Given the description of an element on the screen output the (x, y) to click on. 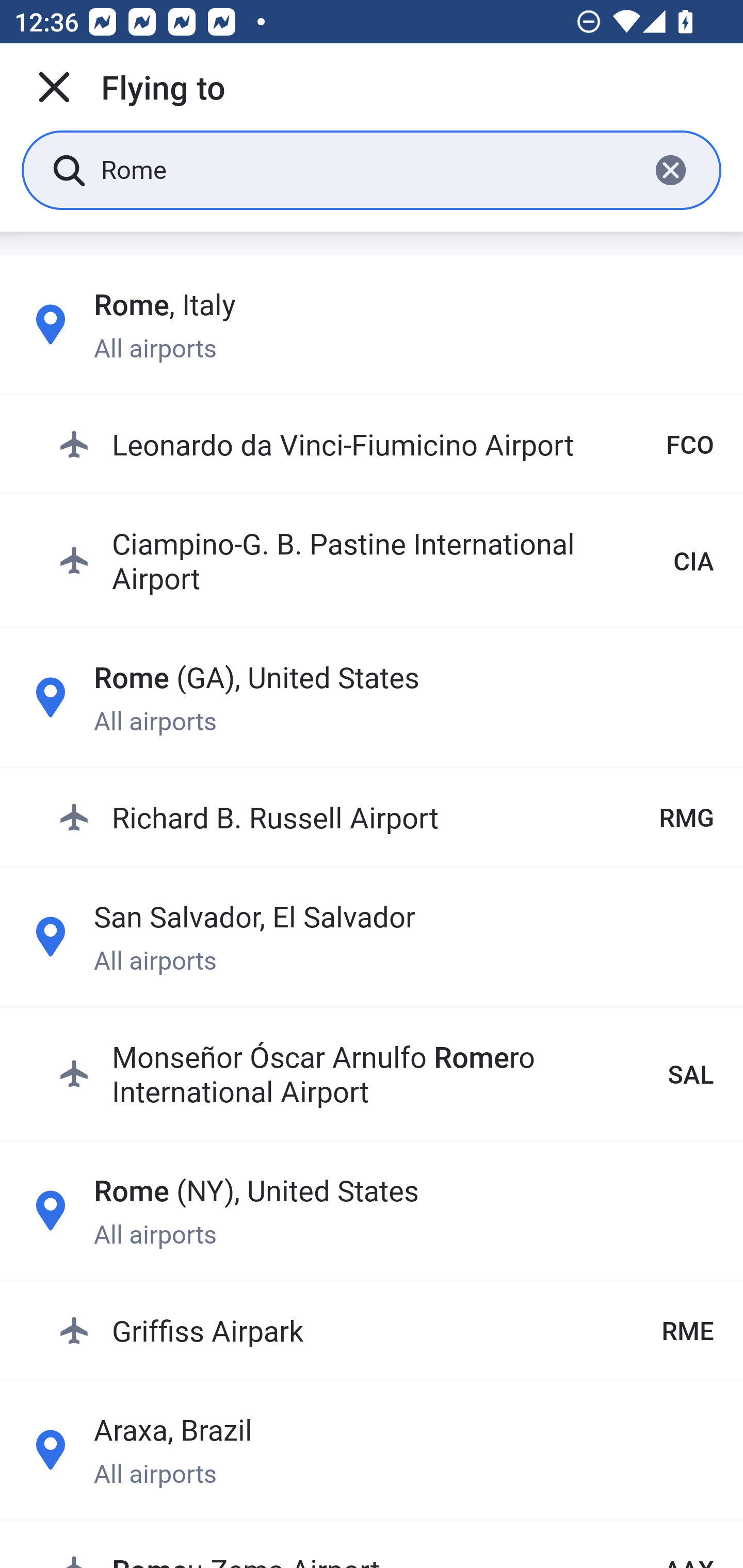
Rome (367, 169)
Rome, Italy All airports (371, 324)
Leonardo da Vinci-Fiumicino Airport FCO (385, 444)
Ciampino-G. B. Pastine International Airport CIA (385, 560)
Rome (GA), United States All airports (371, 696)
Richard B. Russell Airport RMG (385, 816)
San Salvador, El Salvador All airports (371, 936)
Rome (NY), United States All airports (371, 1210)
Griffiss Airpark RME (385, 1330)
Araxa, Brazil All airports (371, 1449)
